Given the description of an element on the screen output the (x, y) to click on. 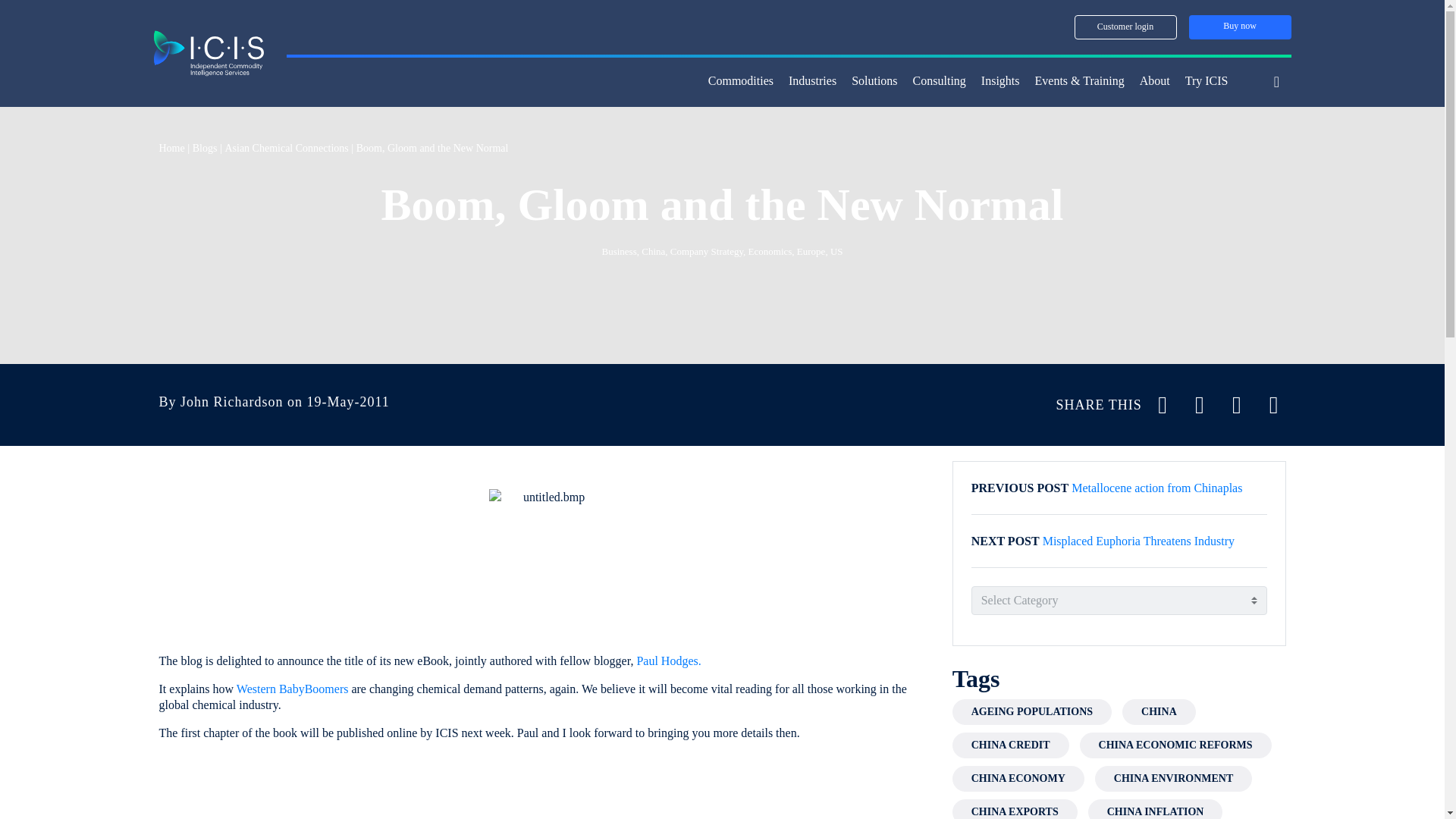
Customer login (1125, 27)
Buy now (1240, 27)
Commodities (740, 82)
Industries (812, 82)
Customer login (1125, 27)
Buy now (1240, 27)
Solutions (873, 82)
Commodities (740, 82)
Insights (1000, 82)
Industries (812, 82)
